Given the description of an element on the screen output the (x, y) to click on. 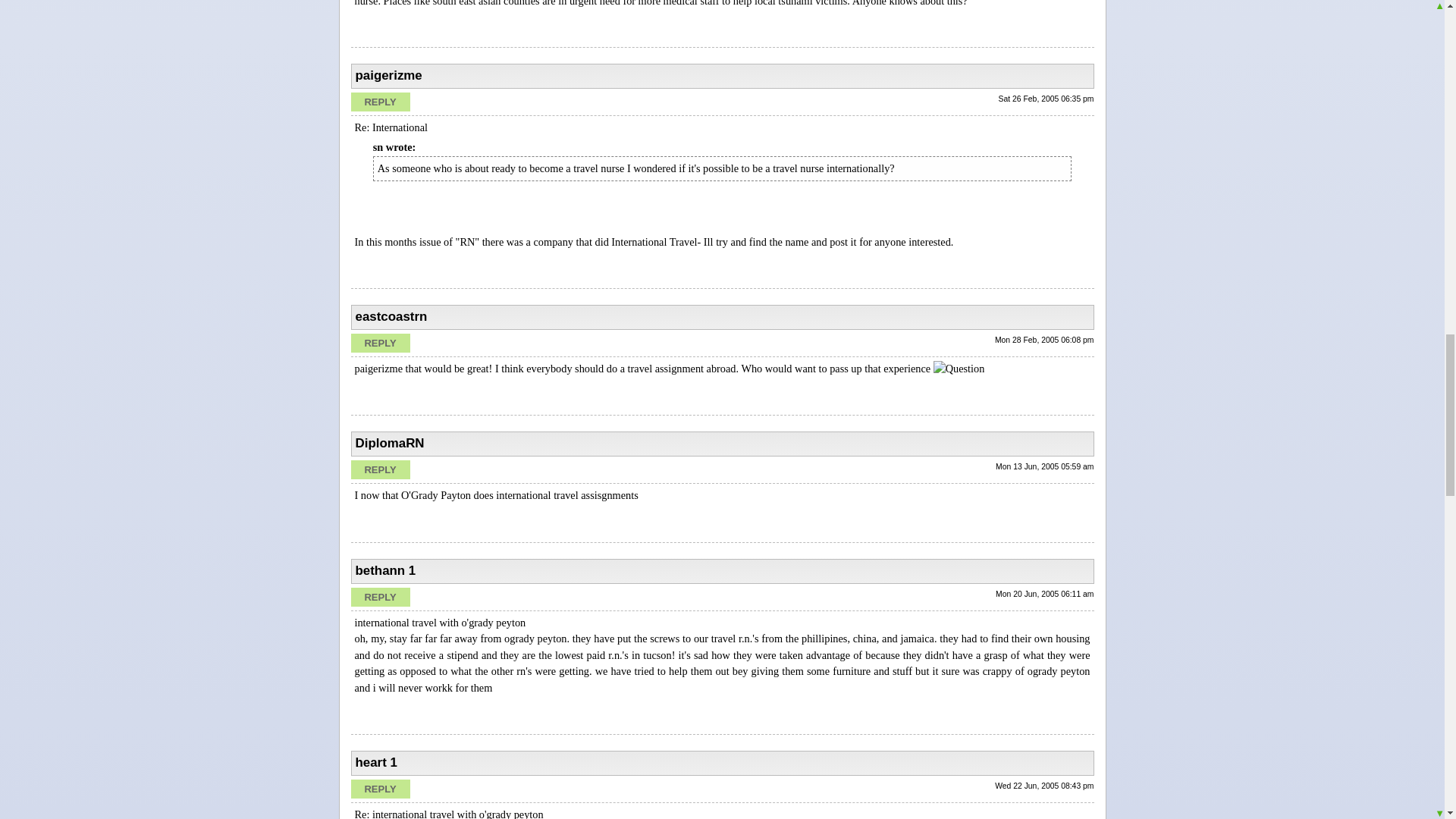
REPLY (379, 101)
REPLY (379, 597)
REPLY (379, 342)
REPLY (379, 469)
REPLY (379, 788)
